Given the description of an element on the screen output the (x, y) to click on. 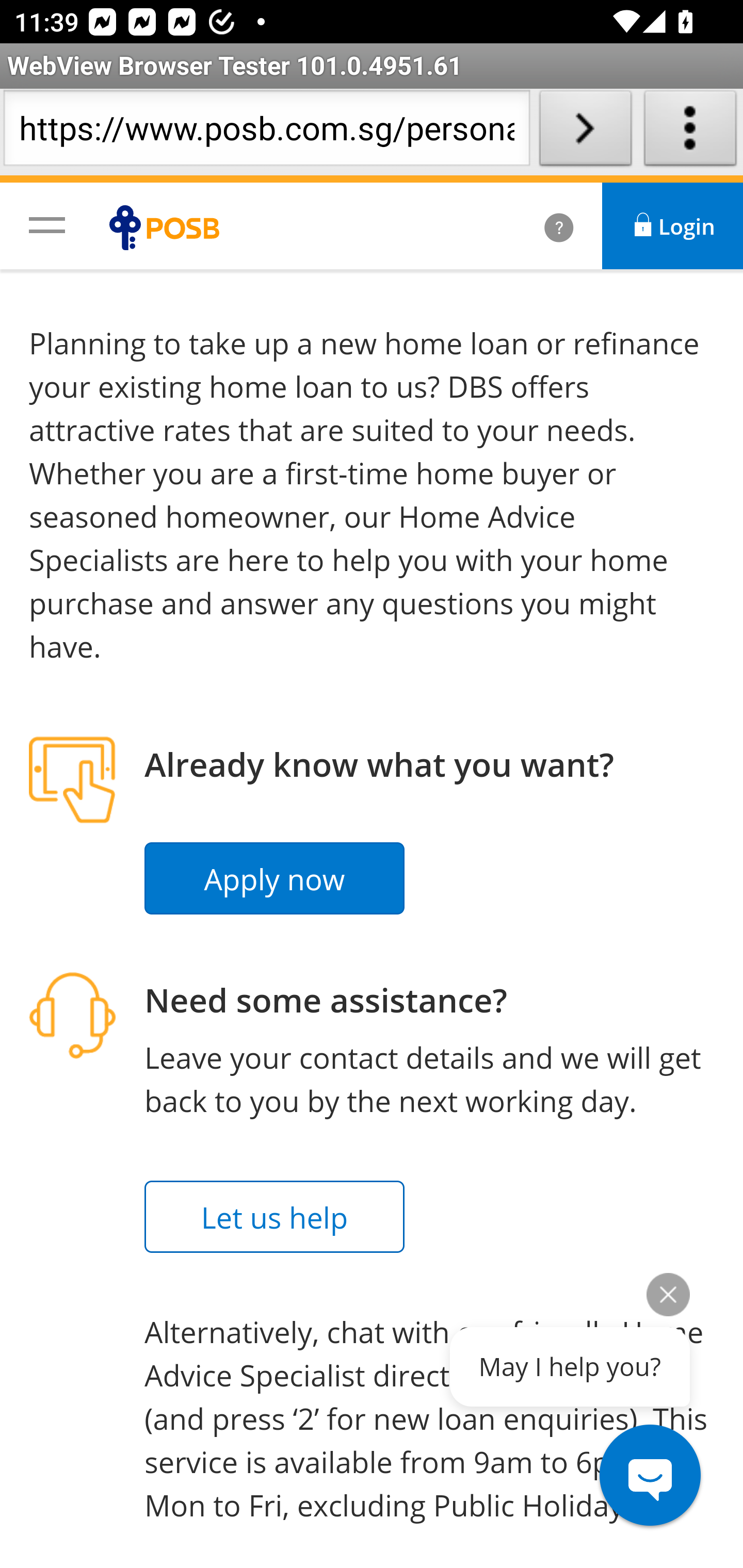
Load URL (585, 132)
About WebView (690, 132)
javascript:void(0); (46, 223)
POSB logo (169, 226)
ﱲ (537, 226)
Login  Login (673, 225)
Apply now (275, 878)
Let us help (275, 1216)
